Given the description of an element on the screen output the (x, y) to click on. 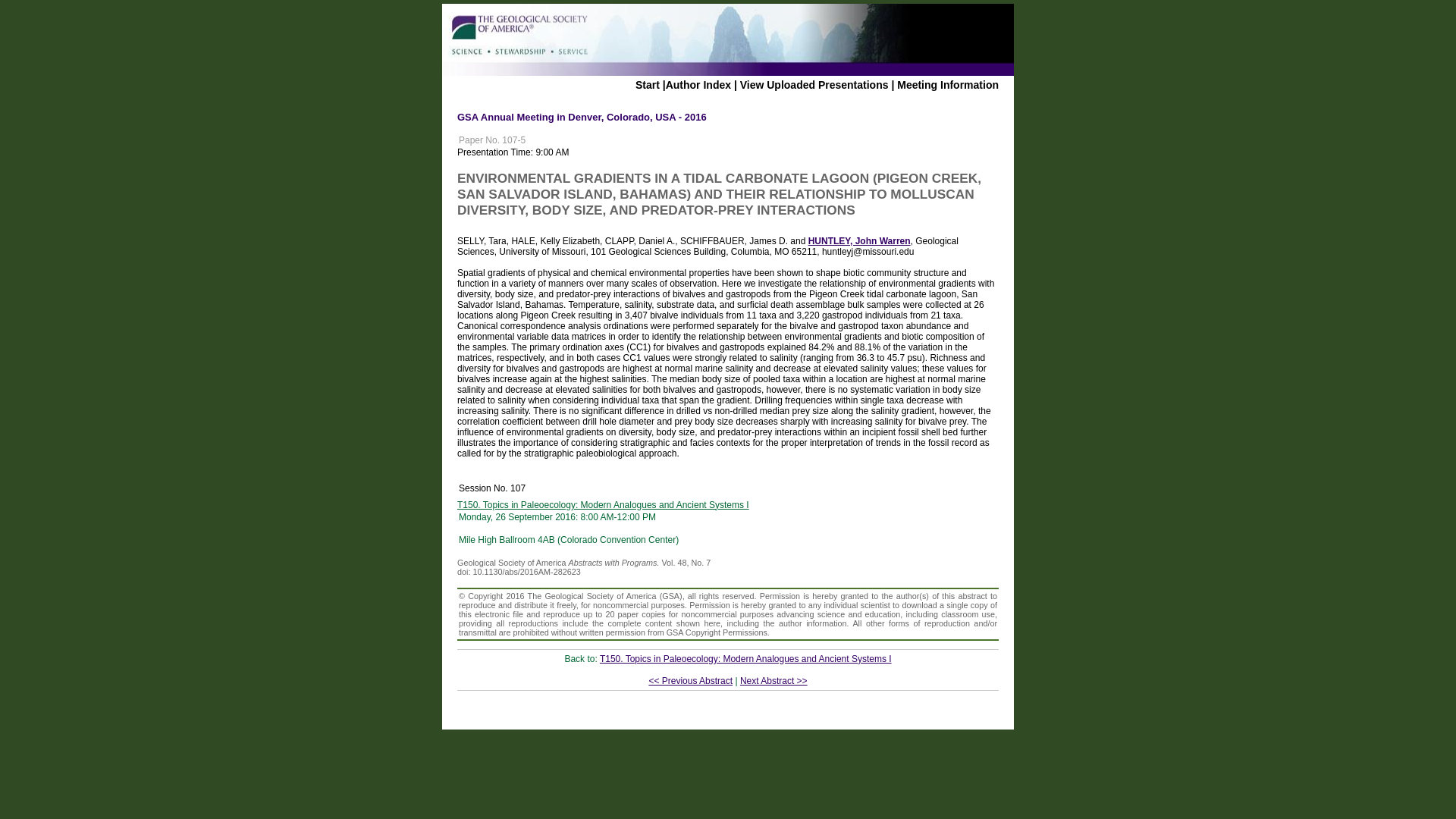
HUNTLEY, John Warren (859, 240)
Meeting Information (947, 84)
View Uploaded Presentations (813, 84)
Author Index (697, 84)
Start (646, 84)
